Given the description of an element on the screen output the (x, y) to click on. 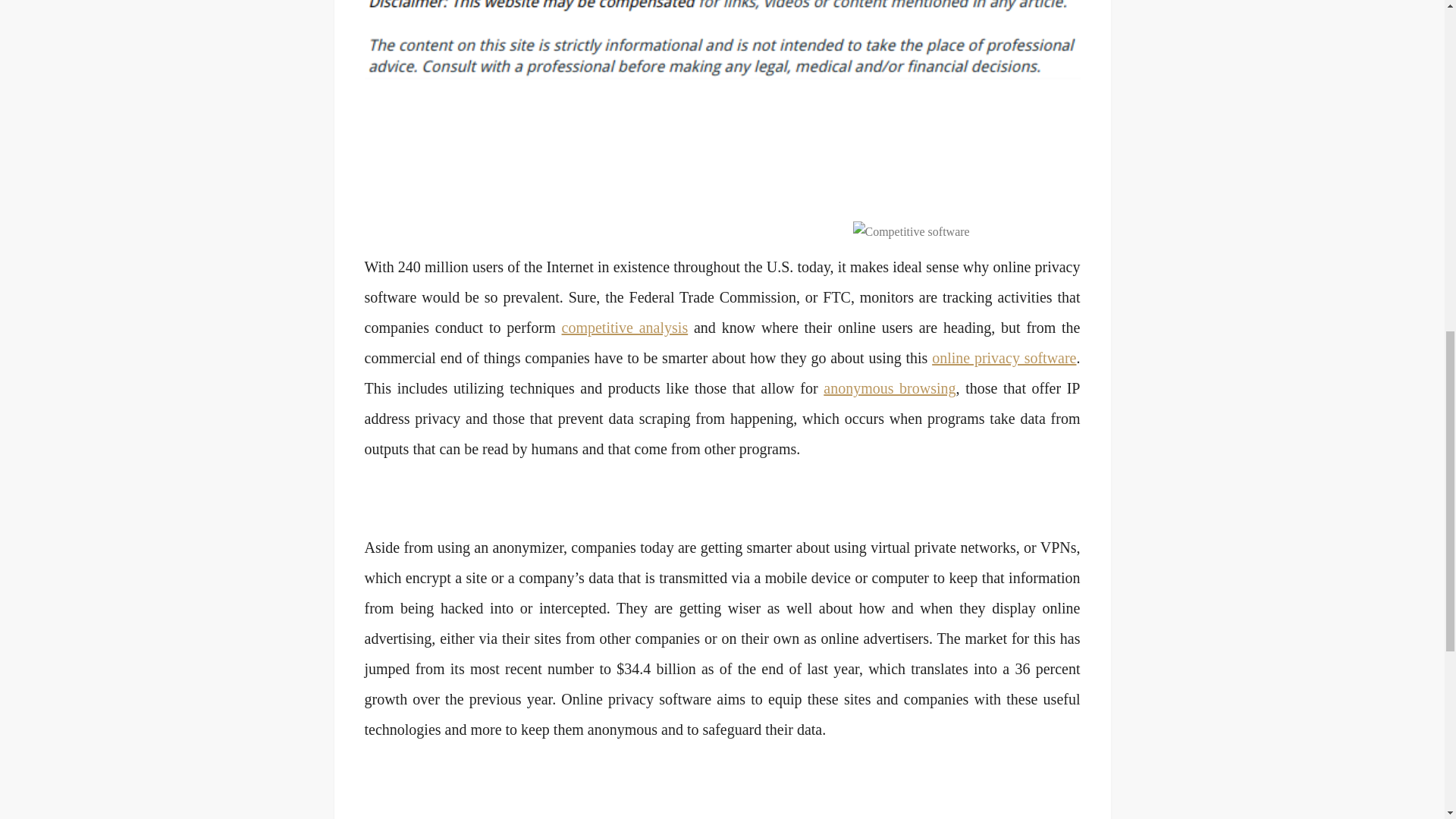
online privacy software (1003, 357)
anonymous browsing (889, 388)
Find more info regarding Management privacy (1003, 357)
competitive analysis (625, 327)
Ip address privacy, Anonymizer (625, 327)
Find more information regarding Online privacy software (889, 388)
